Given the description of an element on the screen output the (x, y) to click on. 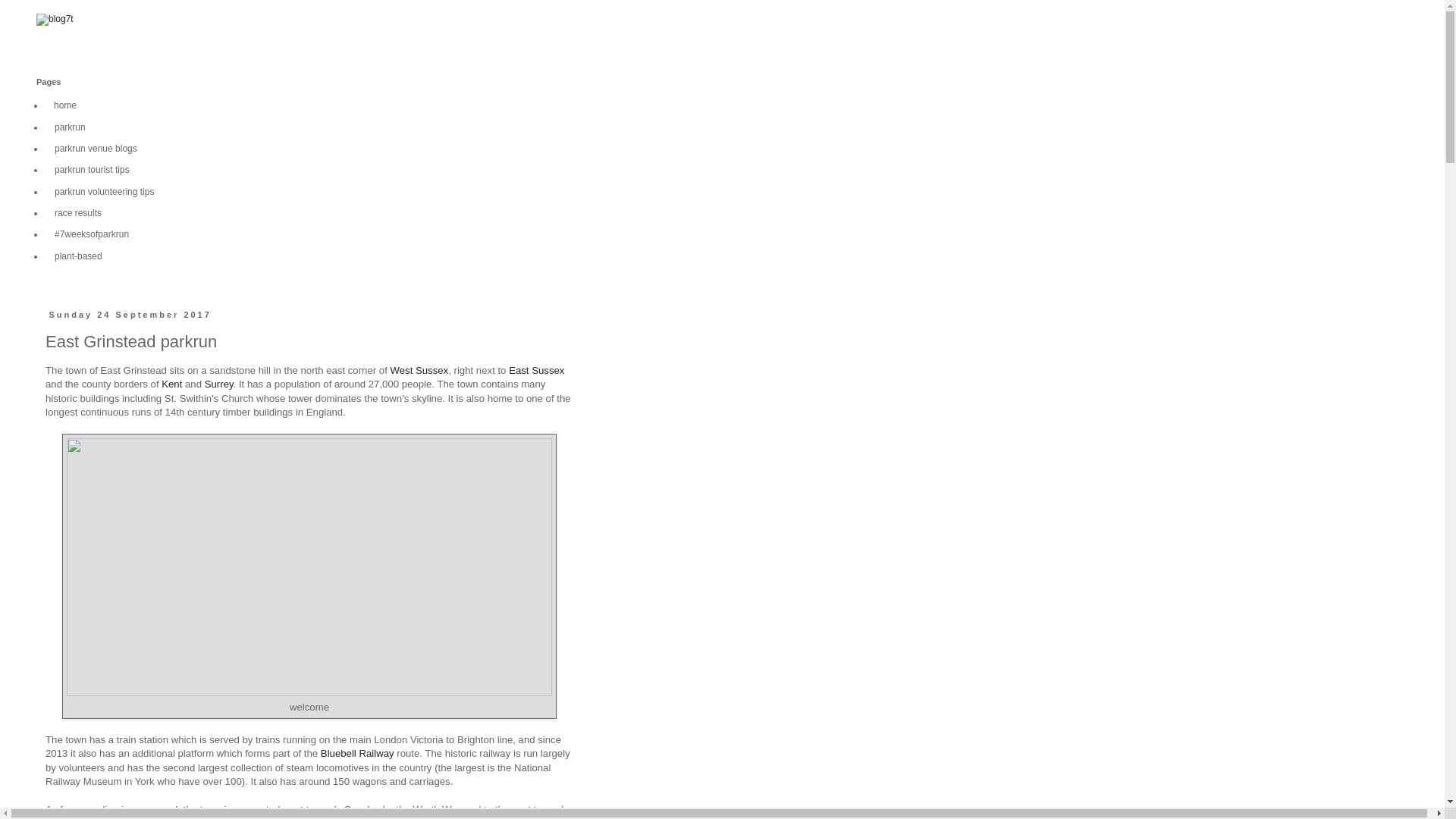
parkrun tourist tips (92, 169)
plant-based (78, 255)
East Sussex (536, 369)
Kent (171, 383)
West Sussex (419, 369)
parkrun volunteering tips (104, 190)
Surrey (218, 383)
Bluebell Railway (357, 753)
race results (78, 212)
parkrun (70, 126)
